Given the description of an element on the screen output the (x, y) to click on. 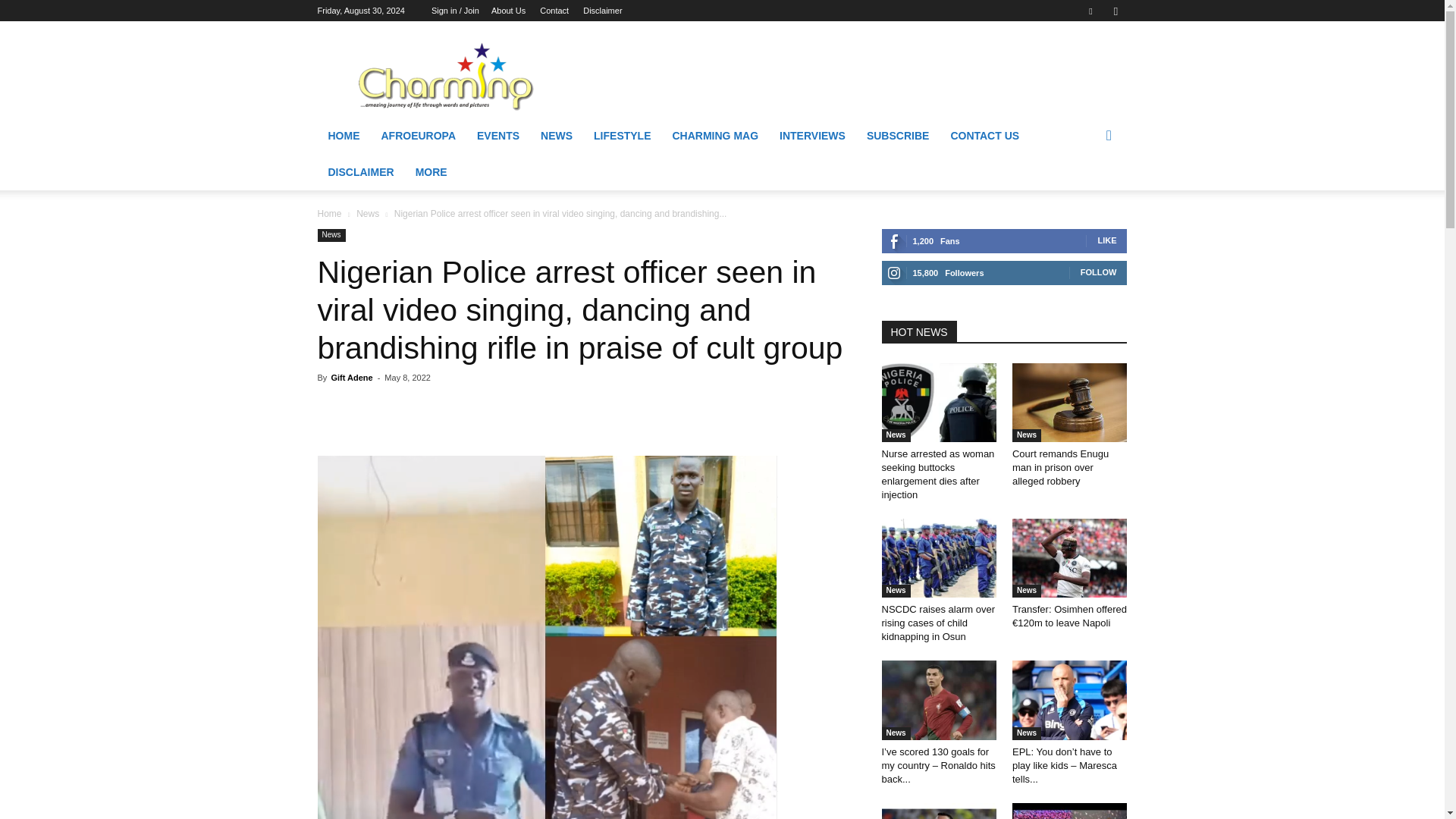
Facebook (1090, 10)
About Us (508, 10)
Instagram (1114, 10)
View all posts in News (367, 213)
Contact (554, 10)
Disclaimer (602, 10)
